Given the description of an element on the screen output the (x, y) to click on. 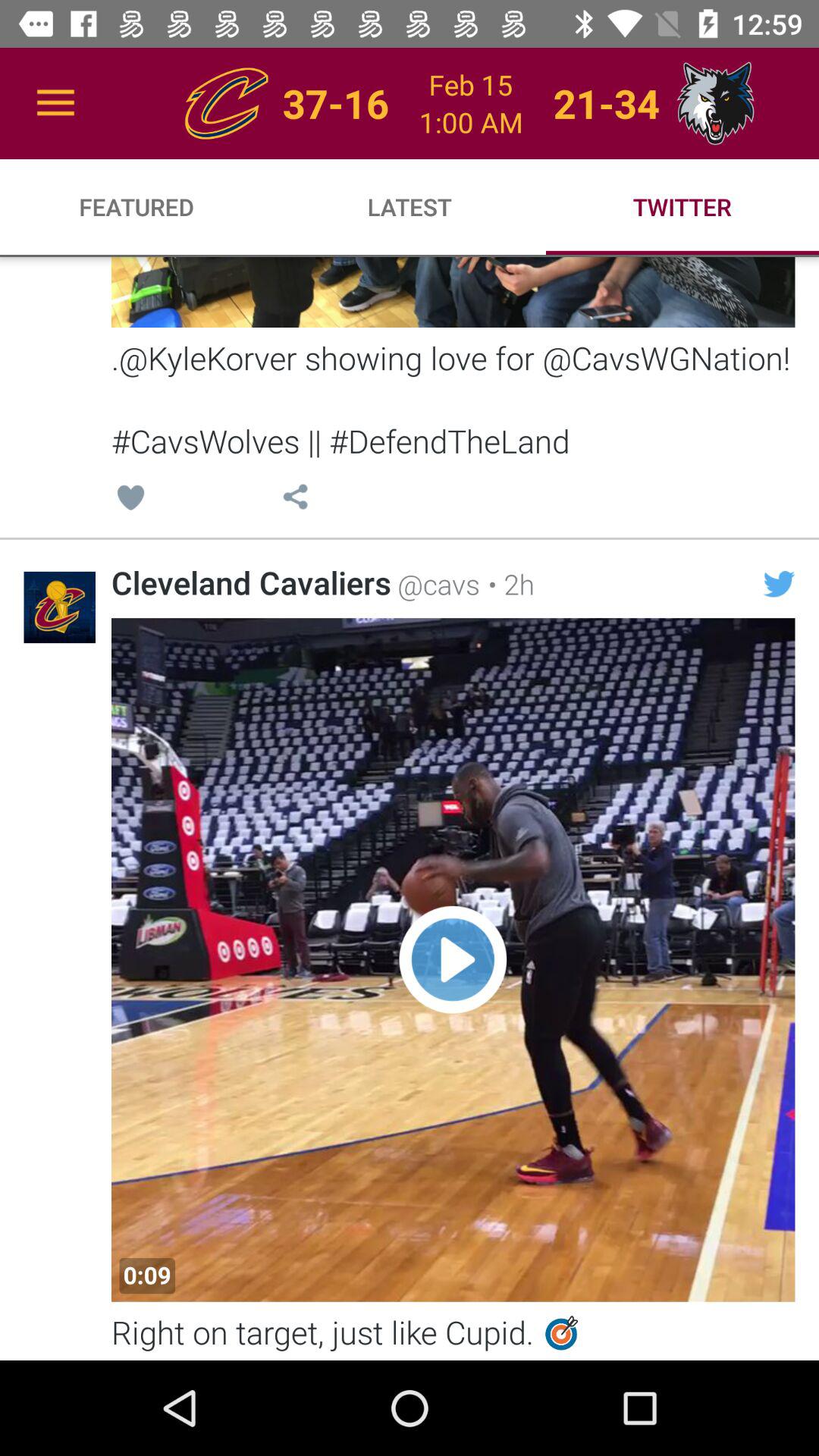
turn on the cleveland cavaliers icon (251, 582)
